Given the description of an element on the screen output the (x, y) to click on. 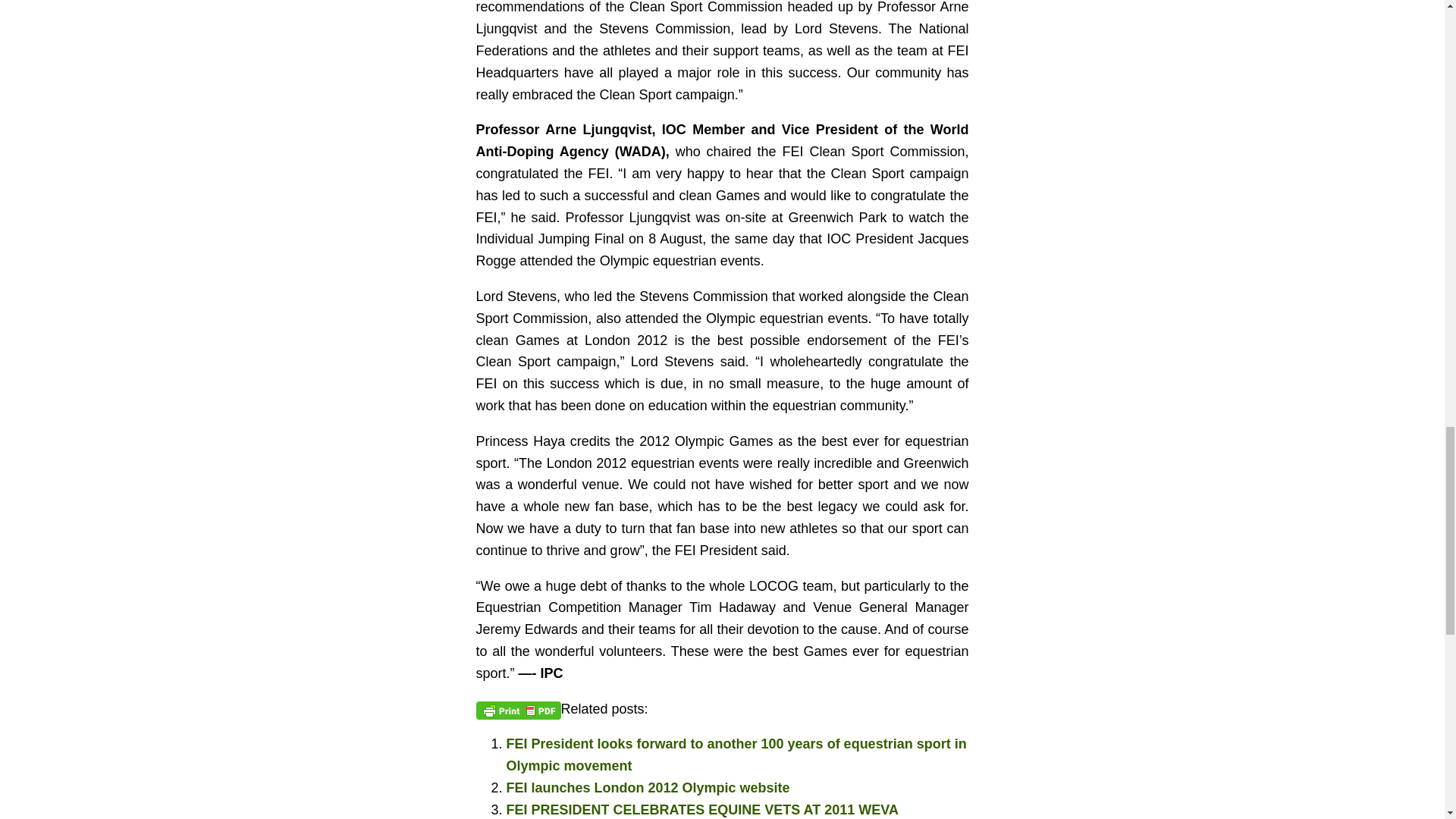
FEI PRESIDENT CELEBRATES EQUINE VETS AT 2011 WEVA CONFERENCE (702, 810)
FEI launches London 2012 Olympic website (648, 787)
FEI PRESIDENT CELEBRATES EQUINE VETS AT 2011 WEVA CONFERENCE (702, 810)
FEI launches London 2012 Olympic website (648, 787)
